Given the description of an element on the screen output the (x, y) to click on. 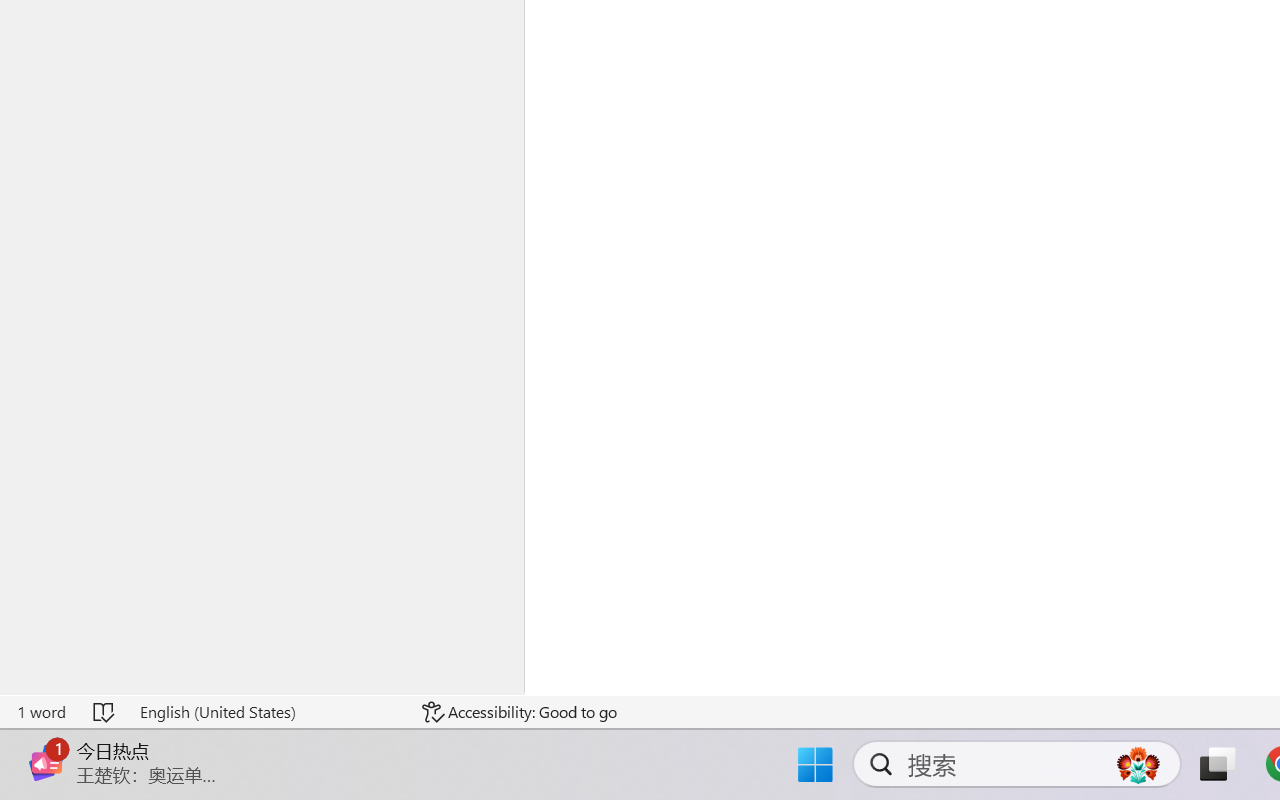
Class: Image (46, 762)
AutomationID: DynamicSearchBoxGleamImage (1138, 764)
Accessibility Checker Accessibility: Good to go (519, 712)
Word Count 1 word (41, 712)
Spelling and Grammar Check No Errors (105, 712)
Language English (United States) (267, 712)
